Given the description of an element on the screen output the (x, y) to click on. 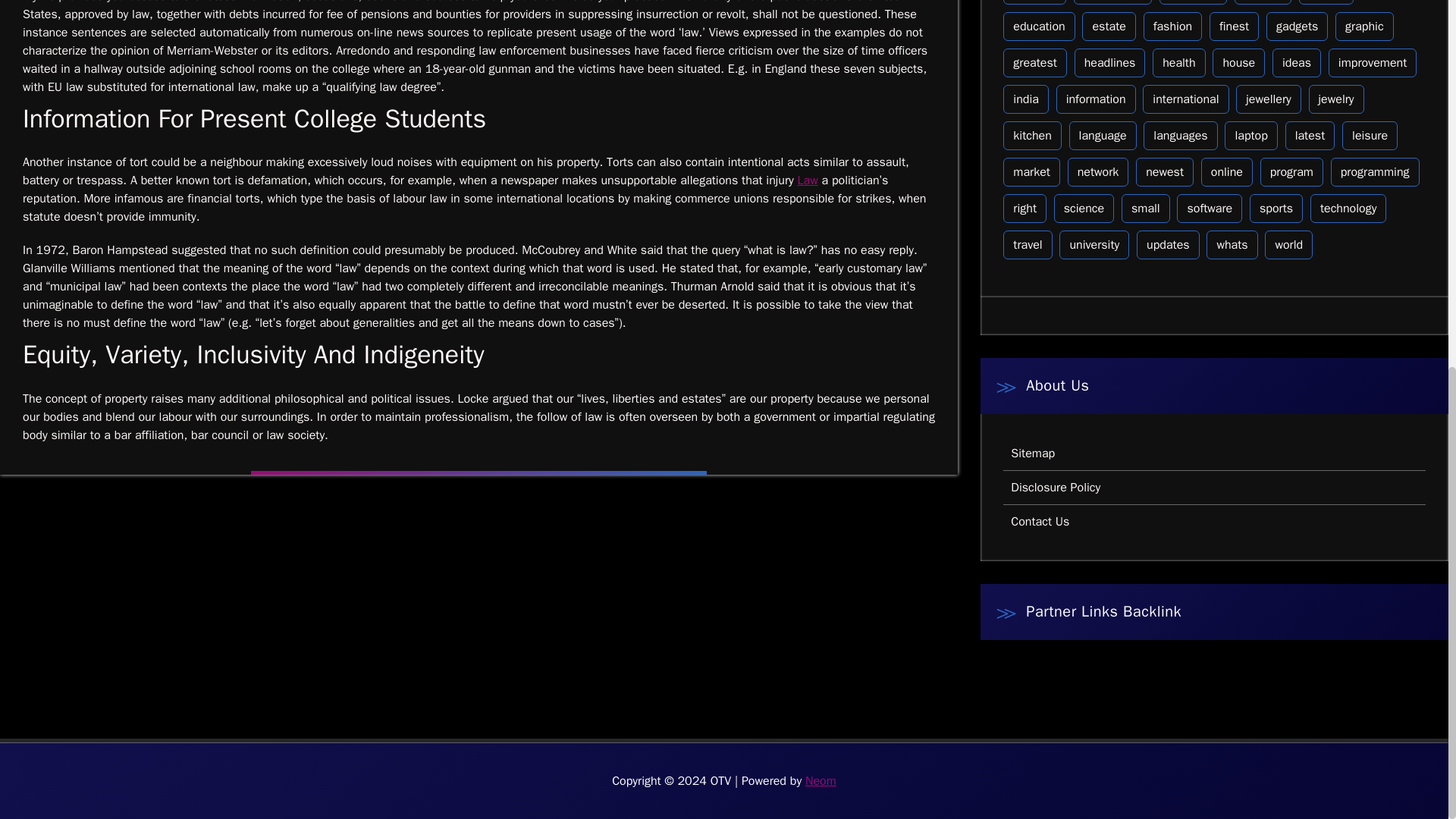
graphic (1364, 26)
Law (807, 180)
finest (1234, 26)
education (1038, 26)
india (1025, 99)
health (1179, 62)
analysis (1034, 2)
house (1238, 62)
fashion (1172, 26)
gadgets (1296, 26)
